Given the description of an element on the screen output the (x, y) to click on. 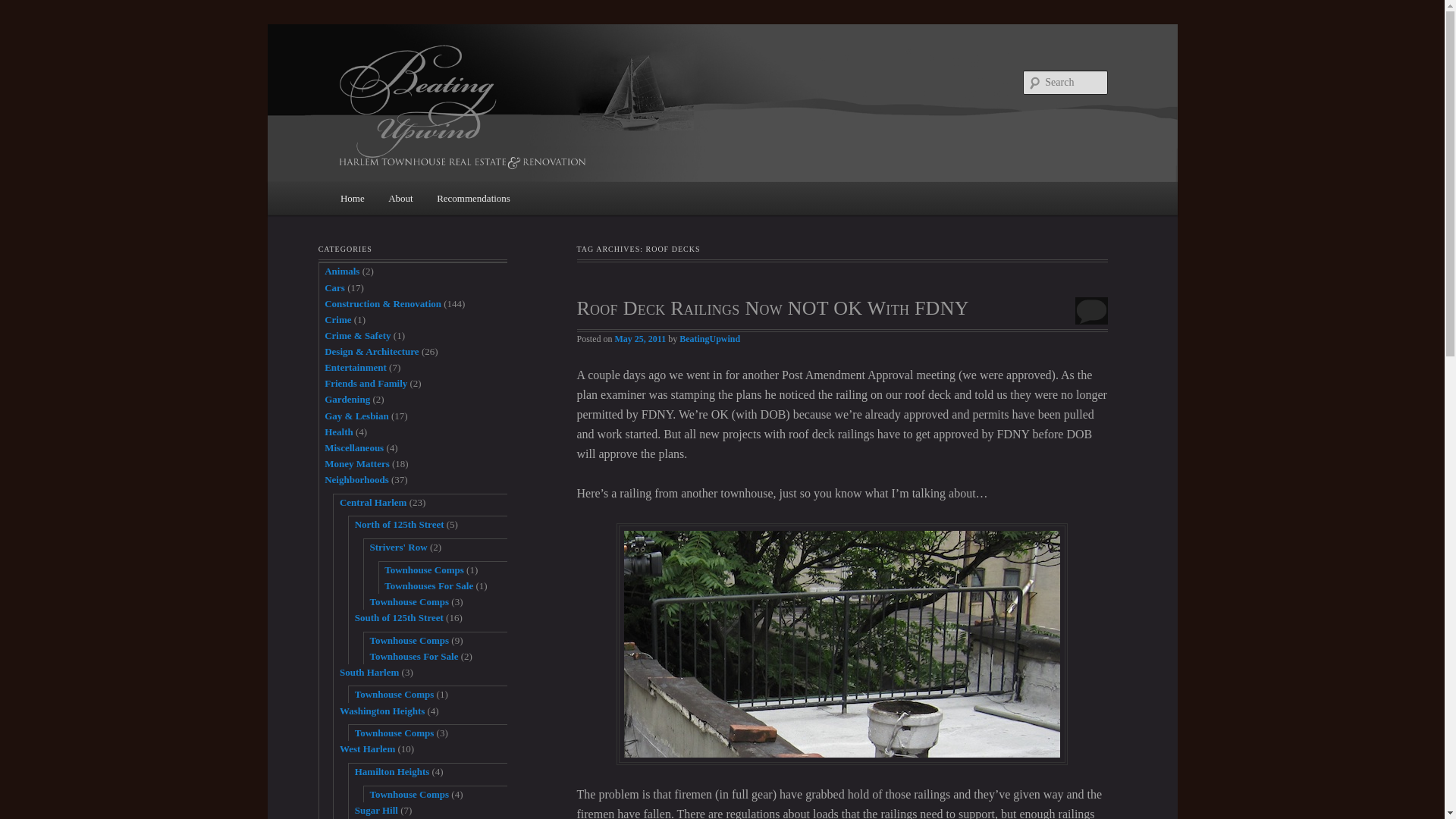
May 25, 2011 (640, 338)
Miscellaneous (354, 447)
Strivers' Row (397, 546)
Animals (341, 270)
Townhouse Comps (408, 601)
Townhouses For Sale (428, 585)
View all posts by BeatingUpwind (709, 338)
Neighborhoods (356, 479)
Friends and Family (365, 383)
Entertainment (355, 367)
Townhouse Comps (408, 640)
Roof Deck Railing on Townhouse (841, 643)
Recommendations (473, 197)
